Given the description of an element on the screen output the (x, y) to click on. 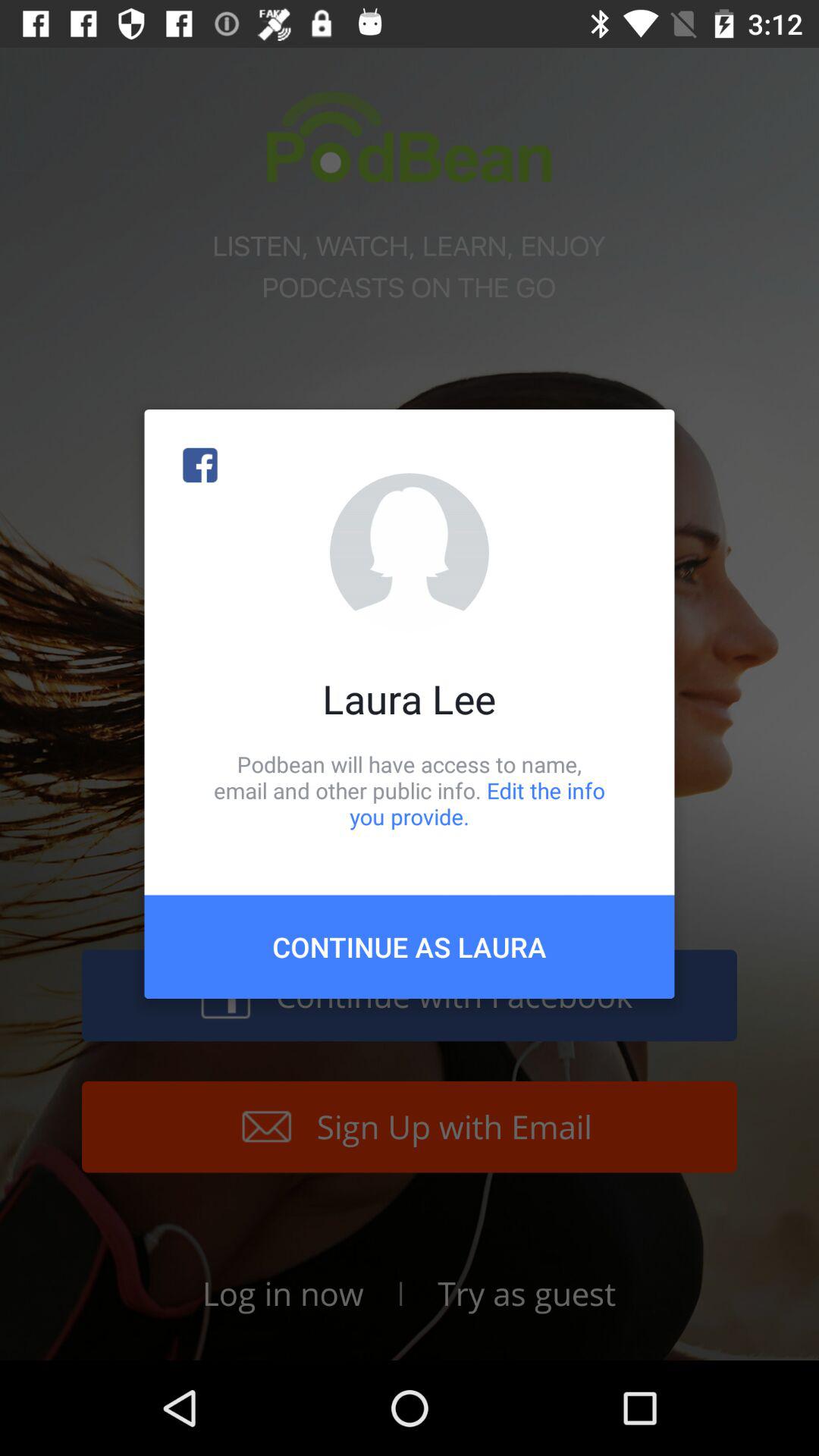
flip to podbean will have icon (409, 790)
